Given the description of an element on the screen output the (x, y) to click on. 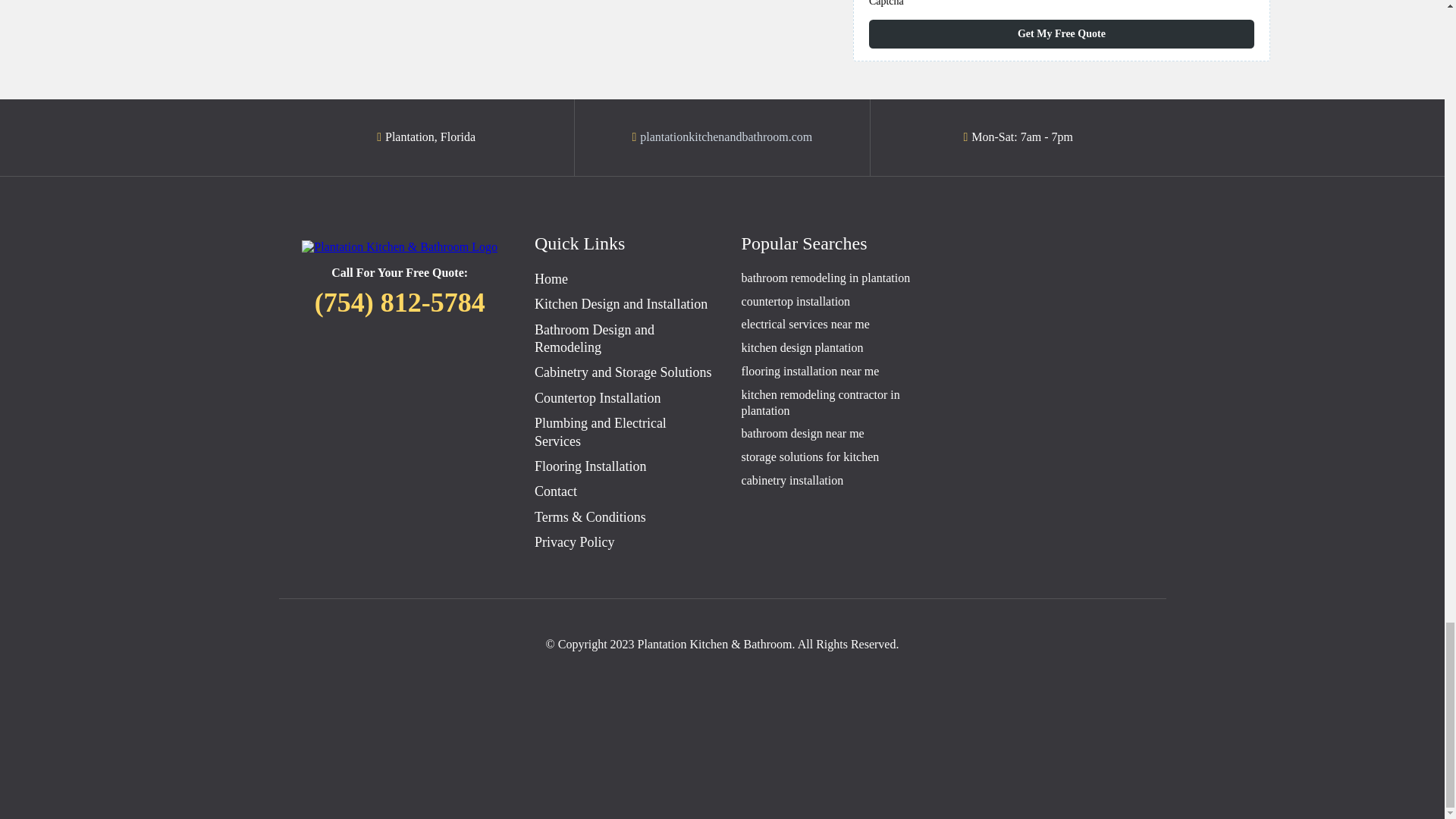
flooring installation near me (810, 370)
Home (550, 278)
countertop installation (795, 300)
Kitchen Design and Installation (620, 304)
kitchen design plantation (802, 347)
Plumbing and Electrical Services (600, 431)
plantationkitchenandbathroom.com (726, 136)
Get My Free Quote (1061, 33)
bathroom remodeling in plantation (826, 277)
Countertop Installation (597, 397)
